Given the description of an element on the screen output the (x, y) to click on. 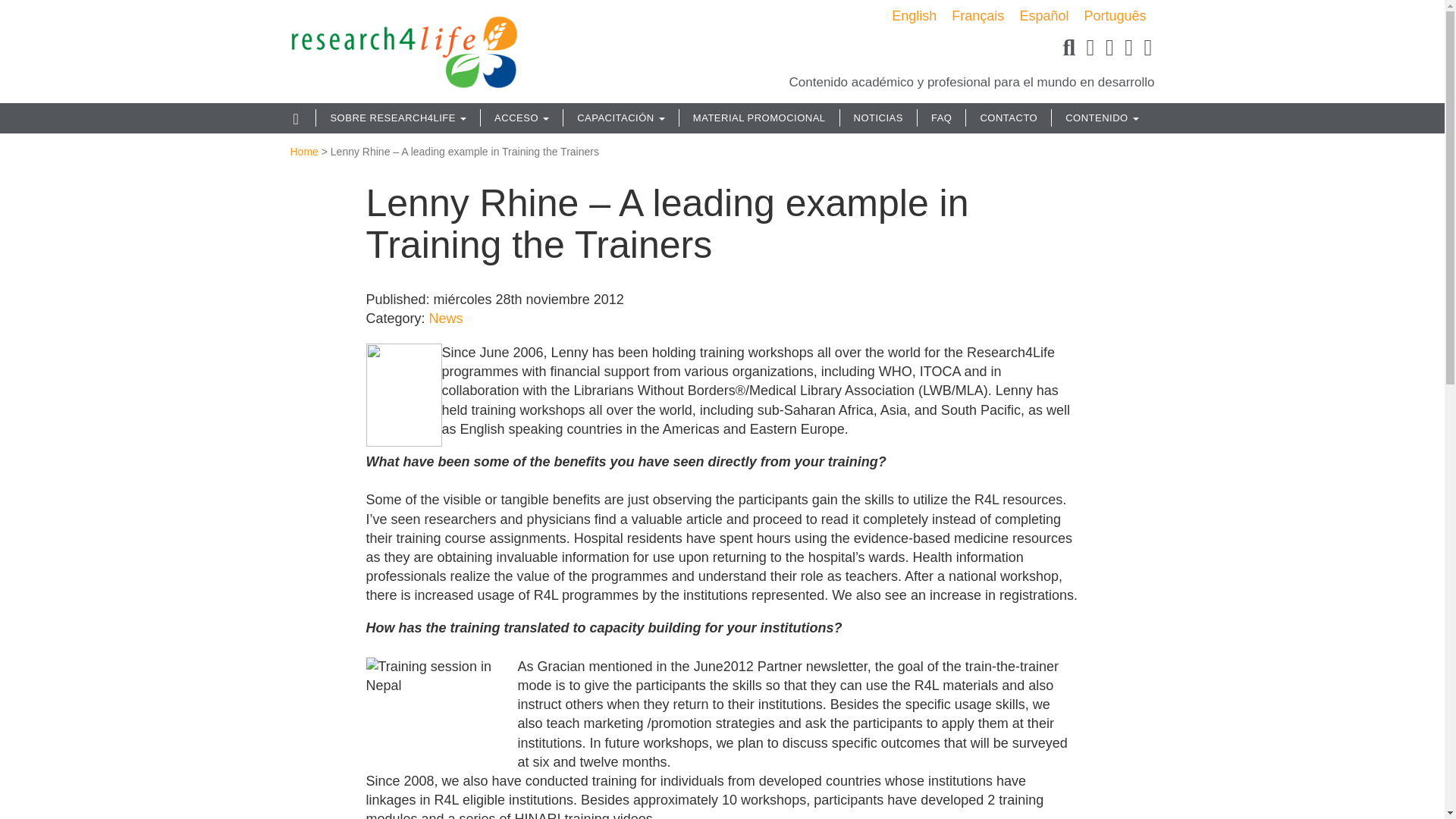
ACCESO (521, 117)
CONTENIDO (1101, 117)
English (913, 15)
Research4Life (402, 45)
FAQ (941, 117)
Acceso (521, 117)
CONTACTO (1007, 117)
Sobre Research4Life (397, 117)
MATERIAL PROMOCIONAL (759, 117)
NOTICIAS (877, 117)
SOBRE RESEARCH4LIFE (397, 117)
